Given the description of an element on the screen output the (x, y) to click on. 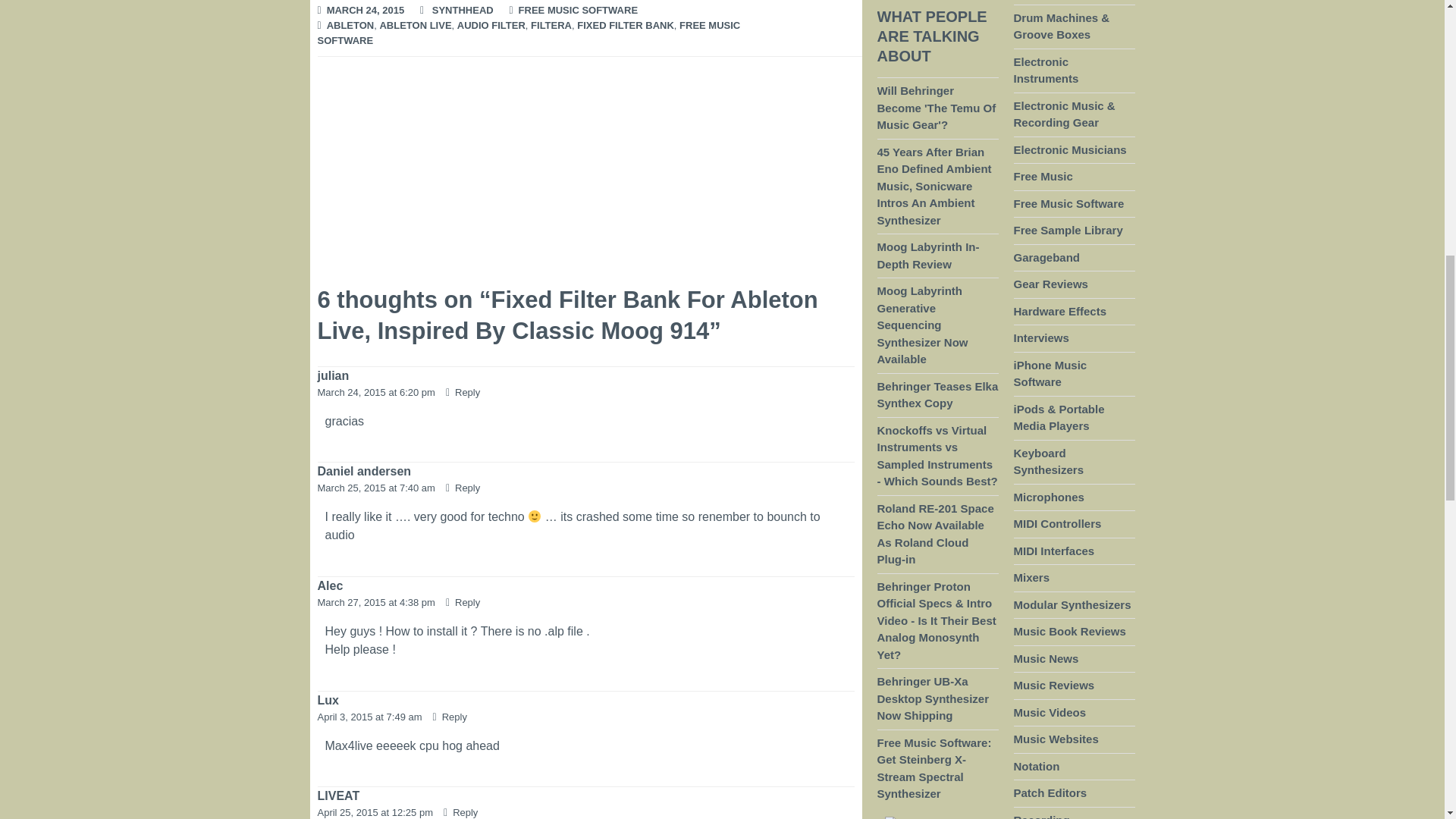
Reply (449, 716)
Reply (462, 392)
ABLETON LIVE (414, 25)
SYNTHHEAD (462, 10)
FILTERA (551, 25)
March 27, 2015 at 4:38 pm (377, 602)
April 3, 2015 at 7:49 am (371, 716)
FREE MUSIC SOFTWARE (577, 10)
AUDIO FILTER (491, 25)
April 25, 2015 at 12:25 pm (376, 812)
FIXED FILTER BANK (625, 25)
ABLETON (350, 25)
March 25, 2015 at 7:40 am (377, 487)
FREE MUSIC SOFTWARE (528, 33)
MARCH 24, 2015 (365, 10)
